Given the description of an element on the screen output the (x, y) to click on. 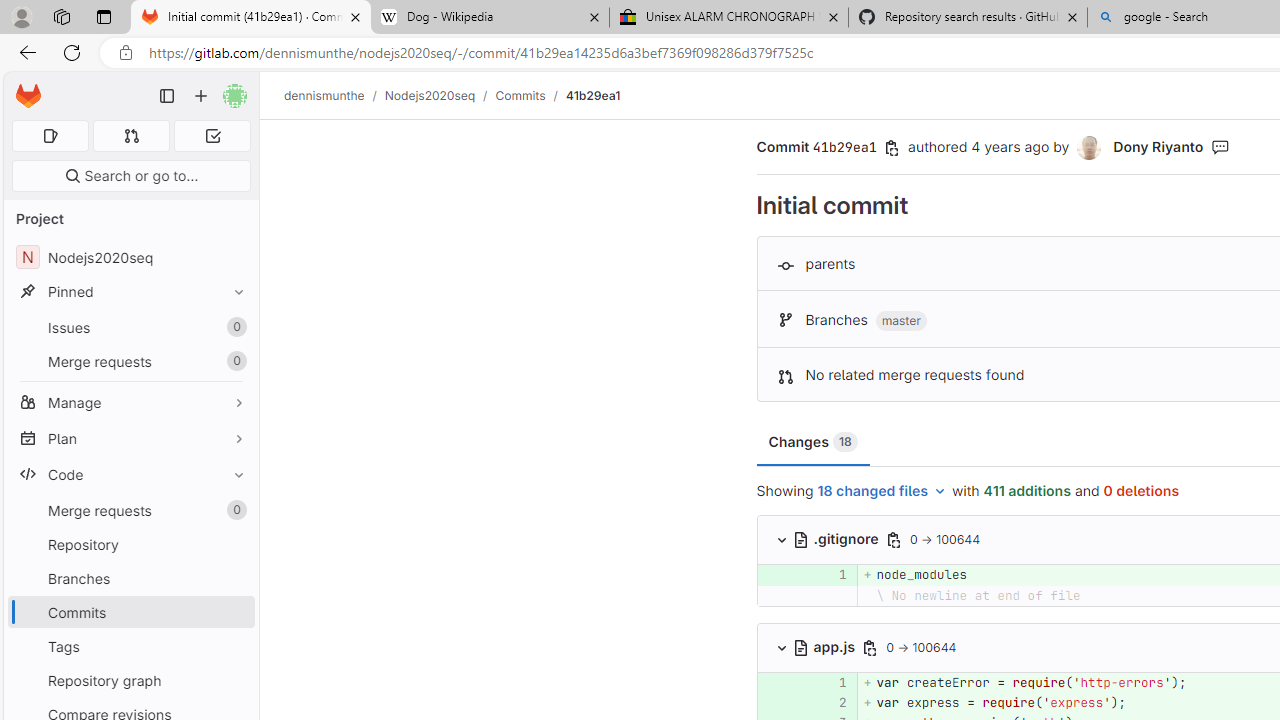
Code (130, 474)
NNodejs2020seq (130, 257)
Add a comment to this line (757, 701)
Merge requests 0 (130, 510)
dennismunthe/ (334, 95)
Branches (130, 578)
Class: s16 (801, 647)
Issues 0 (130, 327)
41b29ea1 (592, 95)
2 (829, 701)
Commits (520, 95)
Merge requests0 (130, 510)
Changes 18 (813, 442)
